Given the description of an element on the screen output the (x, y) to click on. 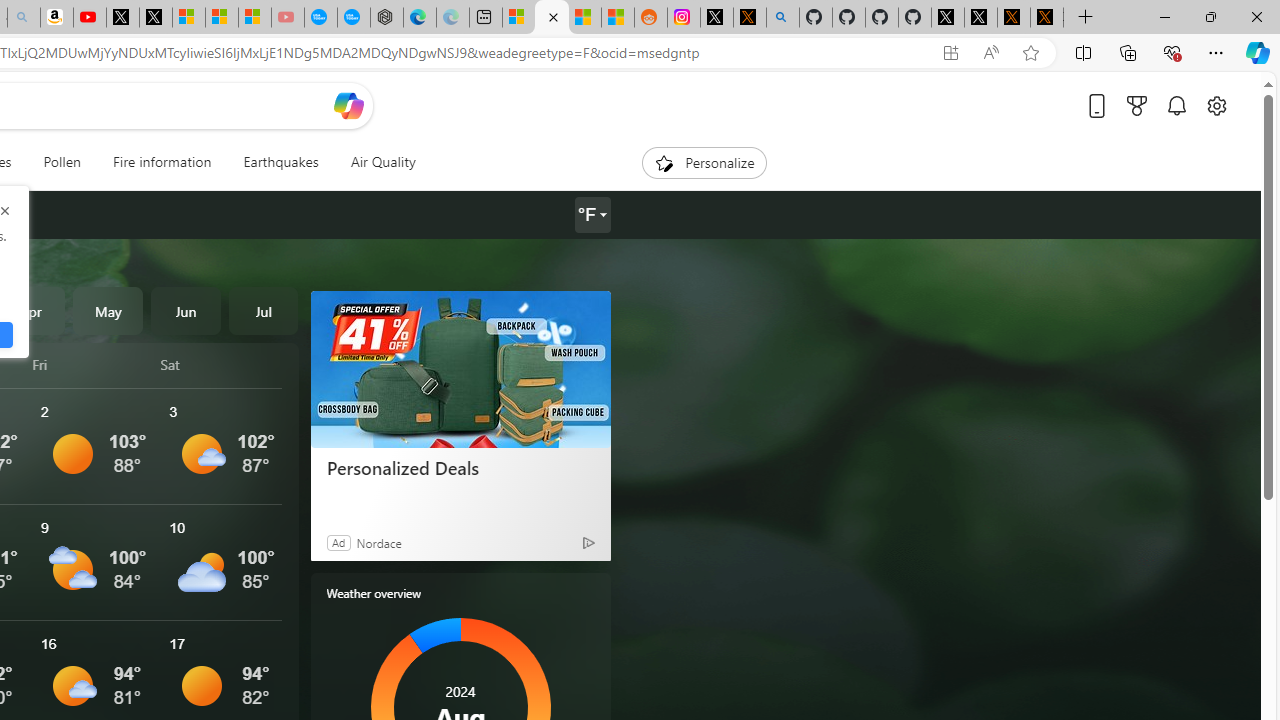
Gloom - YouTube - Sleeping (287, 17)
GitHub (@github) / X (981, 17)
May (107, 310)
Profile / X (947, 17)
Open settings (1216, 105)
Earthquakes (280, 162)
Jul (263, 310)
The most popular Google 'how to' searches (353, 17)
